Given the description of an element on the screen output the (x, y) to click on. 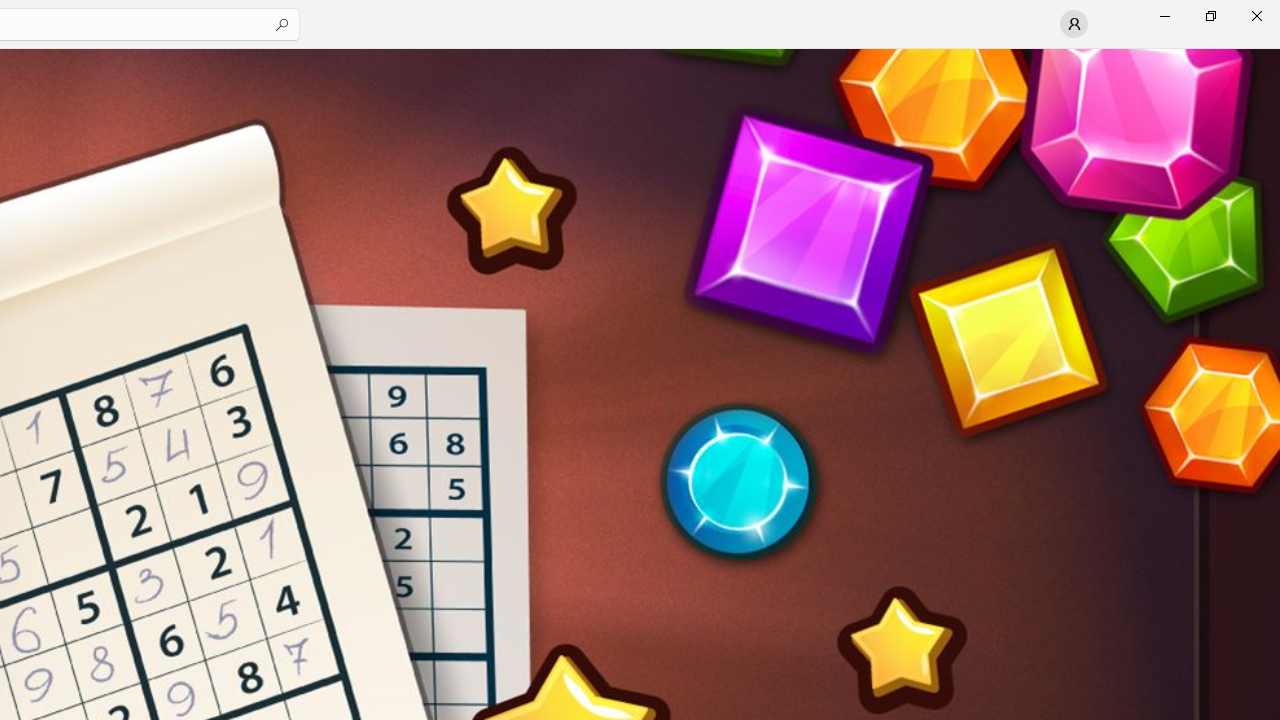
Restore Microsoft Store (1210, 15)
User profile (1073, 24)
Close Microsoft Store (1256, 15)
Minimize Microsoft Store (1164, 15)
